Given the description of an element on the screen output the (x, y) to click on. 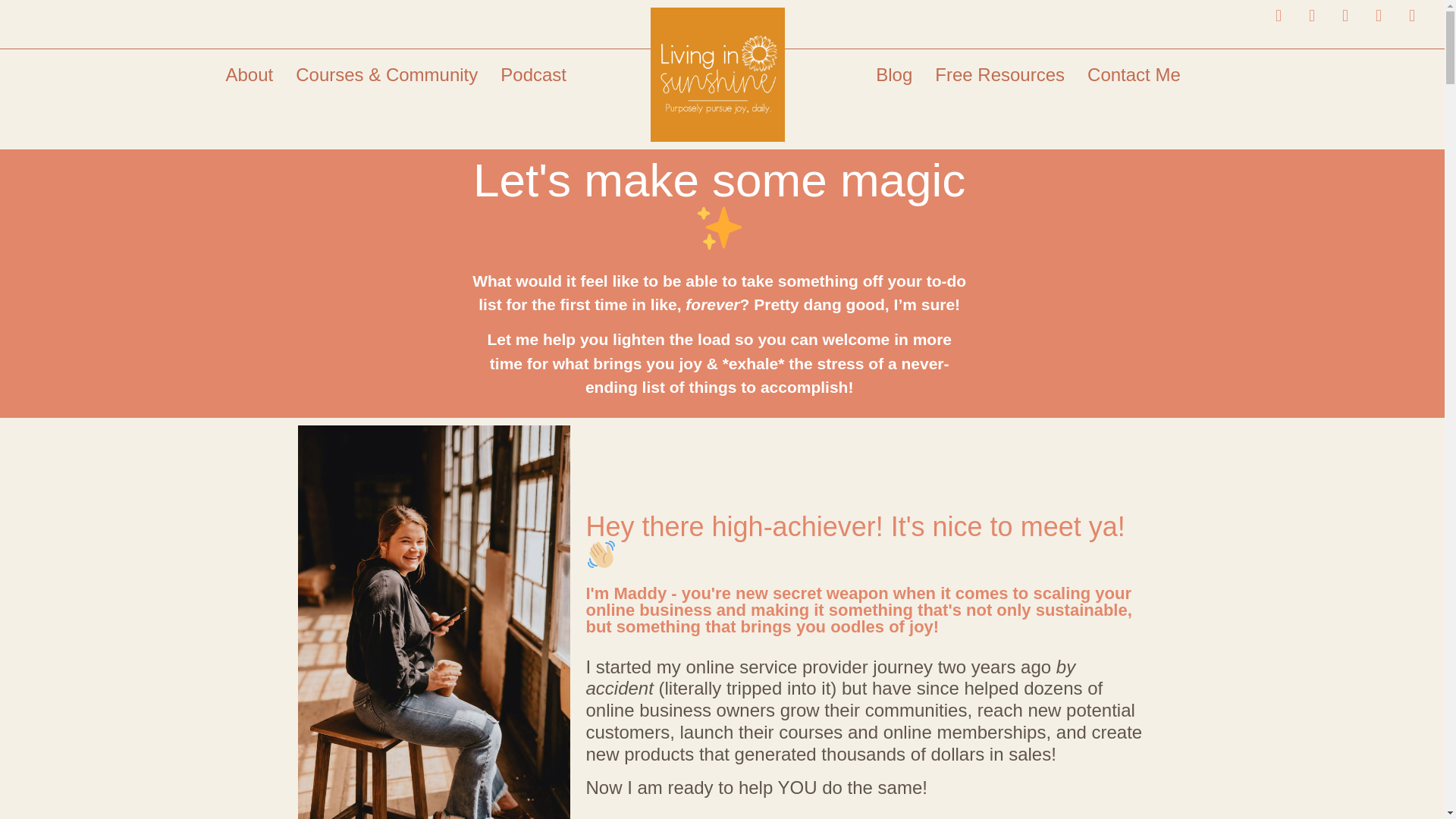
Free Resources (999, 69)
Podcast (533, 49)
Blog (893, 67)
Contact Me (1133, 71)
About (248, 36)
